Given the description of an element on the screen output the (x, y) to click on. 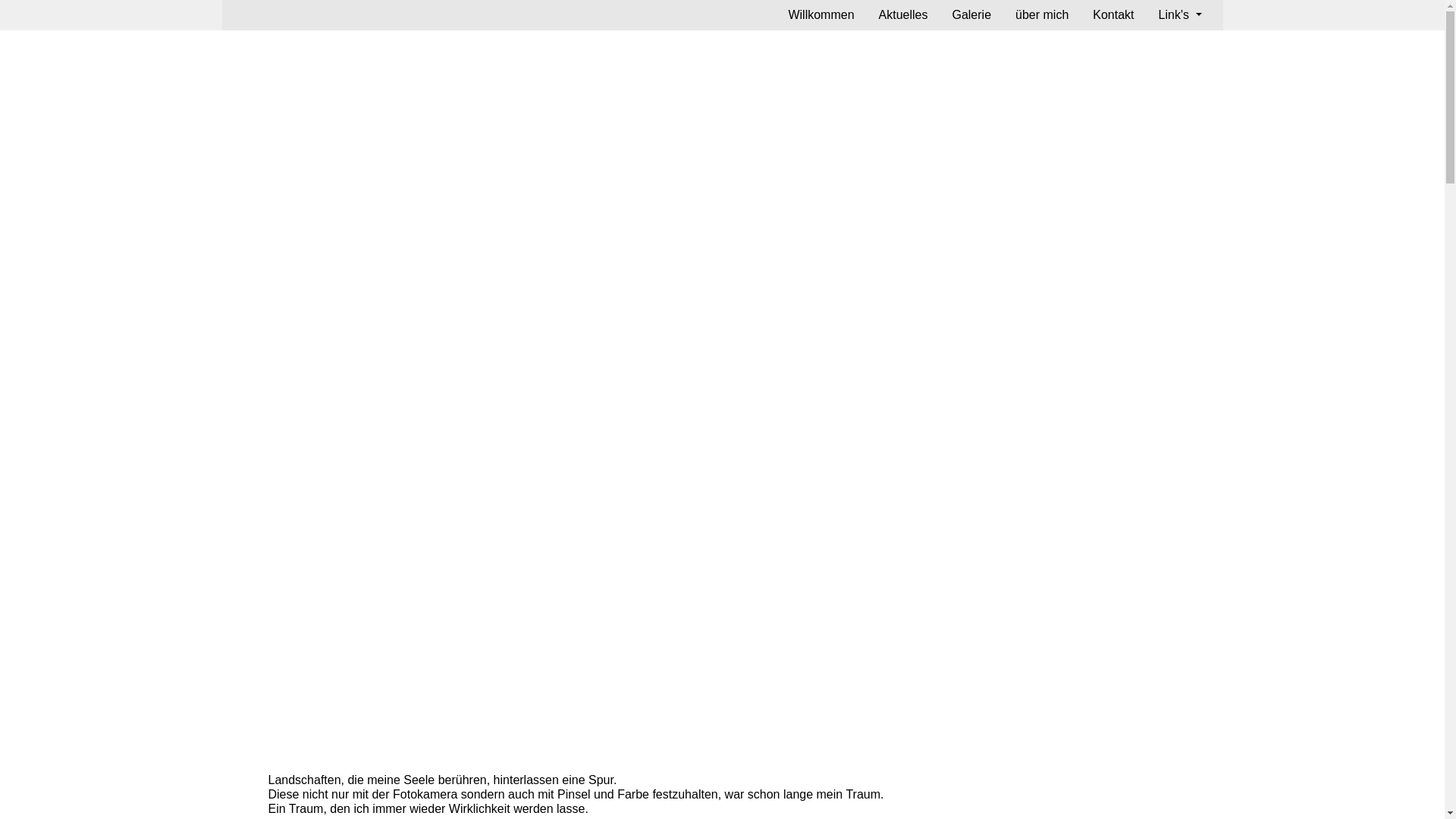
Galerie Element type: text (971, 15)
Kontakt Element type: text (1112, 15)
Link's Element type: text (1180, 15)
Willkommen Element type: text (820, 15)
Aktuelles Element type: text (903, 15)
